Given the description of an element on the screen output the (x, y) to click on. 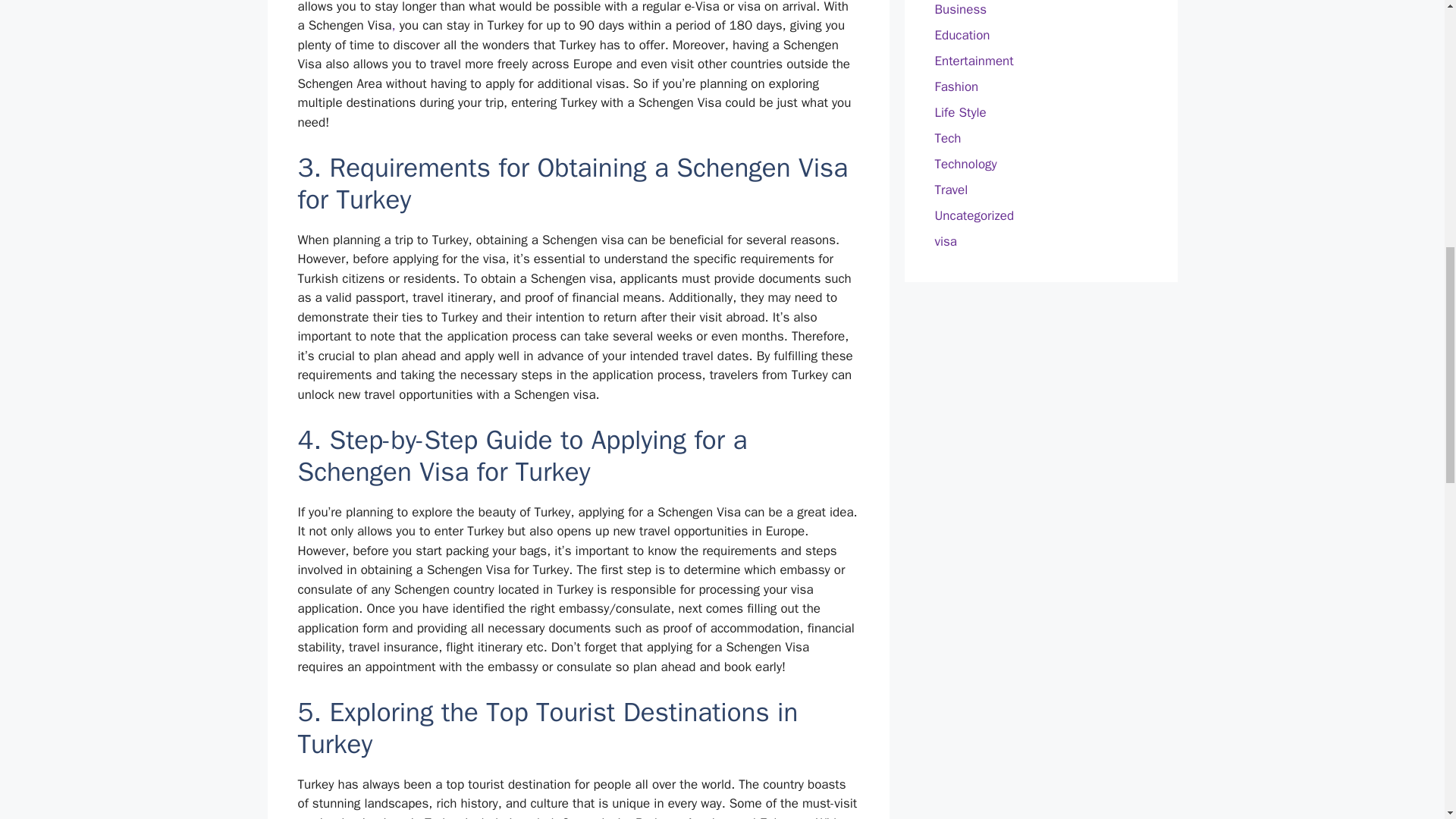
Education (962, 35)
Tech (947, 138)
Business (960, 9)
visa (945, 241)
Fashion (956, 86)
Technology (964, 163)
Entertainment (973, 60)
Travel (951, 189)
Life Style (959, 112)
Uncategorized (973, 215)
